Given the description of an element on the screen output the (x, y) to click on. 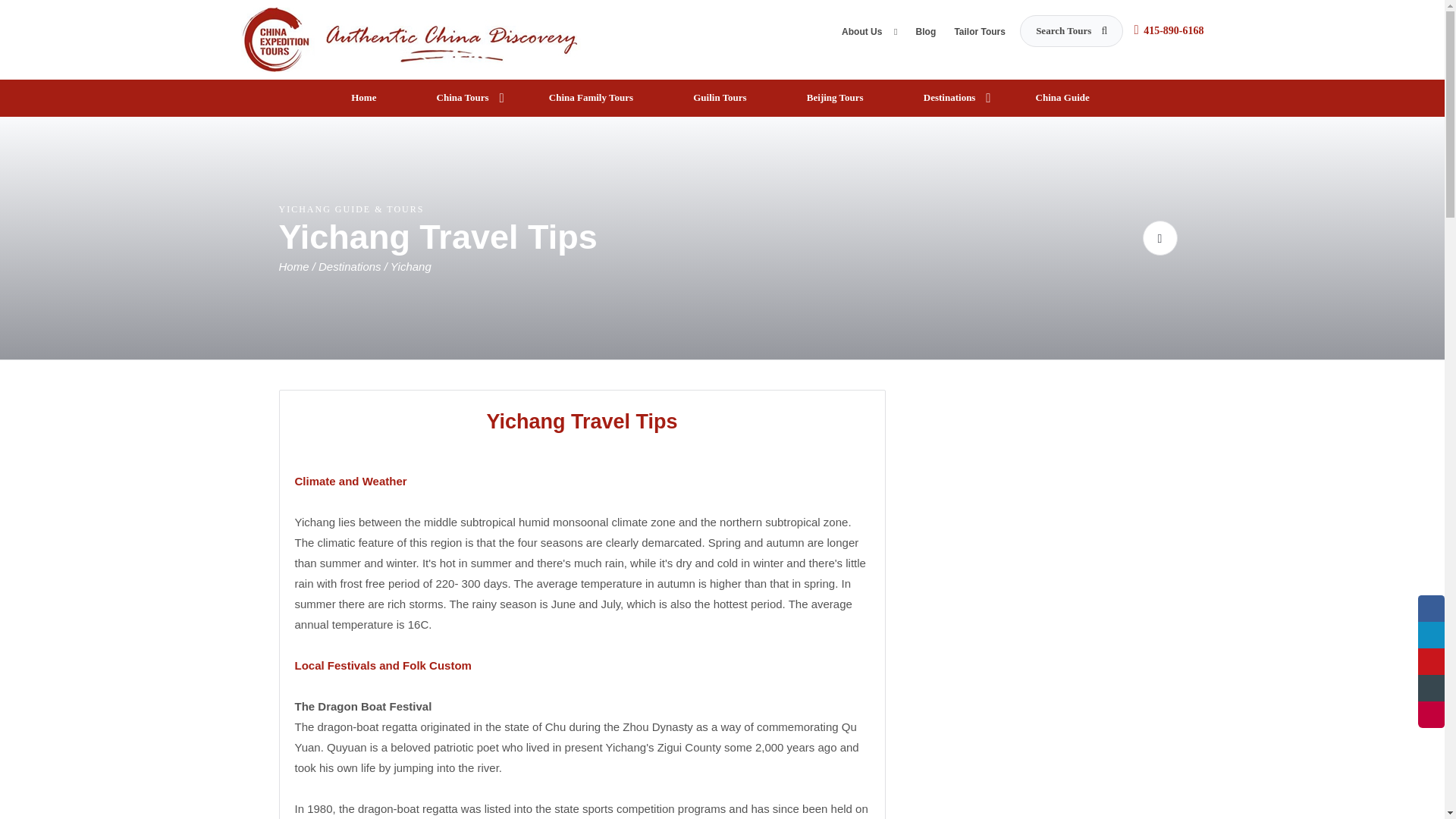
Yichang (410, 266)
China Tours (465, 98)
About Us (868, 34)
Blog (925, 34)
Home (365, 98)
Destinations (351, 266)
China Tours (410, 38)
415-890-6168 (1173, 30)
Tailor Tours (979, 34)
Search Tours (1071, 30)
